Given the description of an element on the screen output the (x, y) to click on. 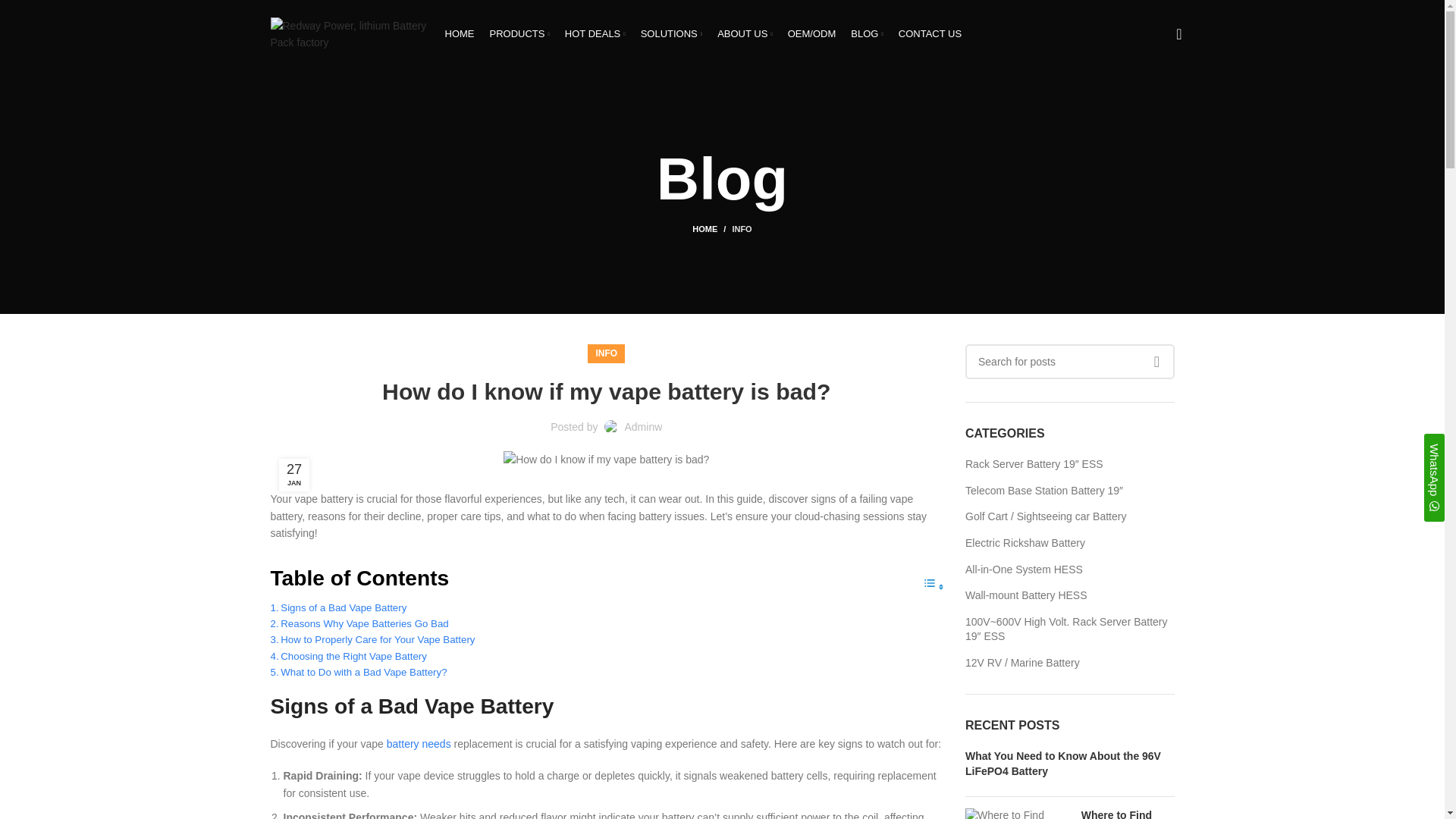
What to Do with a Bad Vape Battery? (357, 672)
PRODUCTS (519, 33)
Permalink to Where to Find Used Telecom Batteries for Sale (1125, 814)
How to Properly Care for Your Vape Battery (371, 639)
Search for posts (1069, 361)
Signs of a Bad Vape Battery (337, 607)
HOME (459, 33)
Reasons Why Vape Batteries Go Bad (358, 623)
Choosing the Right Vape Battery (347, 656)
